Given the description of an element on the screen output the (x, y) to click on. 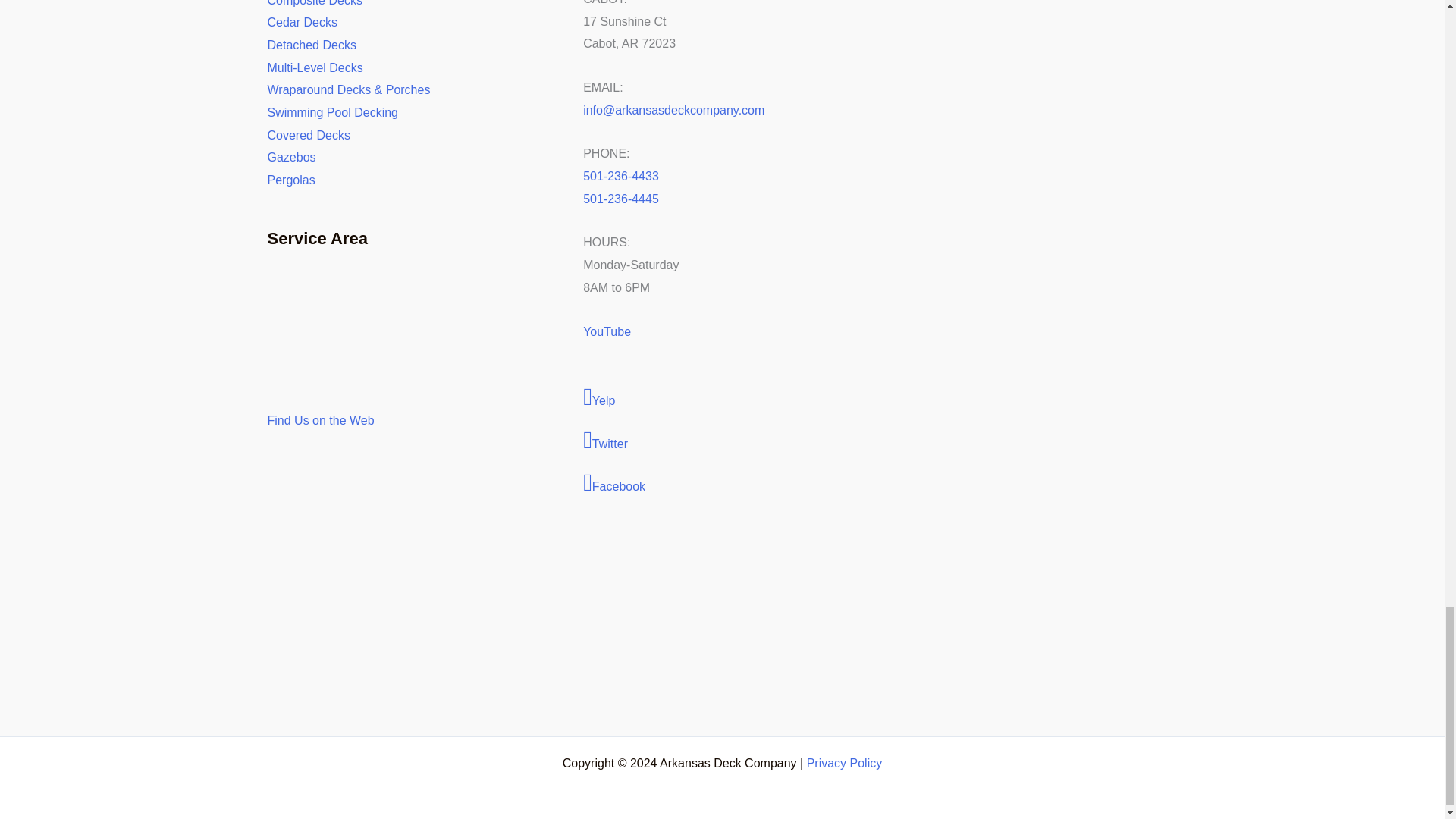
Visit Arkansas Deck Company on Facebook (722, 483)
Visit Arkansas Deck Company on Twitter (722, 441)
Visit Arkansas Deck Company on Yelp (722, 398)
